Given the description of an element on the screen output the (x, y) to click on. 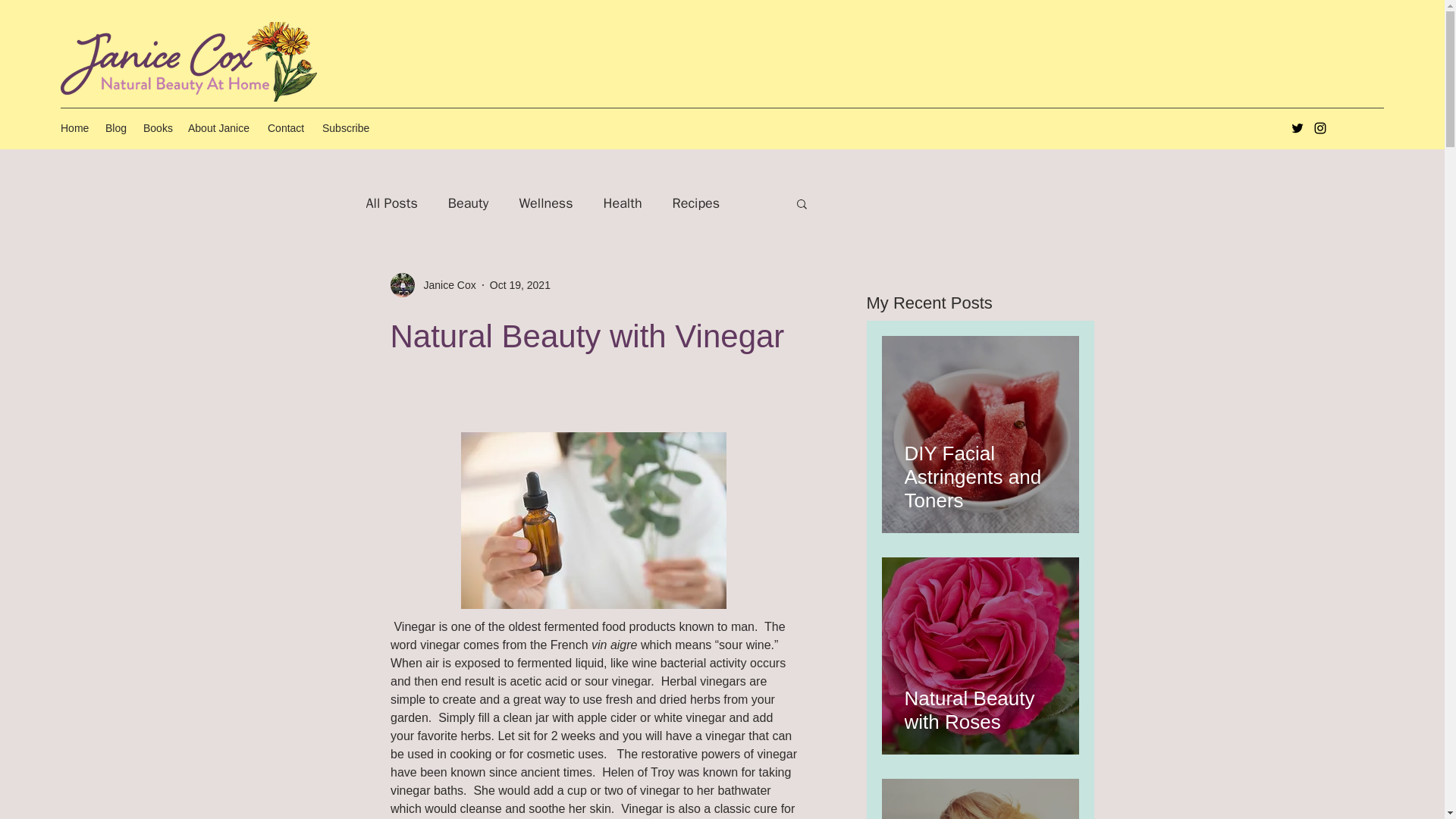
Health (623, 203)
Beauty (468, 203)
DIY Facial Astringents and Toners (979, 470)
Blog (116, 128)
Wellness (545, 203)
Janice Cox  (444, 285)
Contact (287, 128)
Home (74, 128)
Recipes (696, 203)
Janice Cox (433, 284)
Natural Beauty with Roses (979, 703)
About Janice (220, 128)
JC-logo.png (190, 61)
Books (157, 128)
Oct 19, 2021 (519, 285)
